Given the description of an element on the screen output the (x, y) to click on. 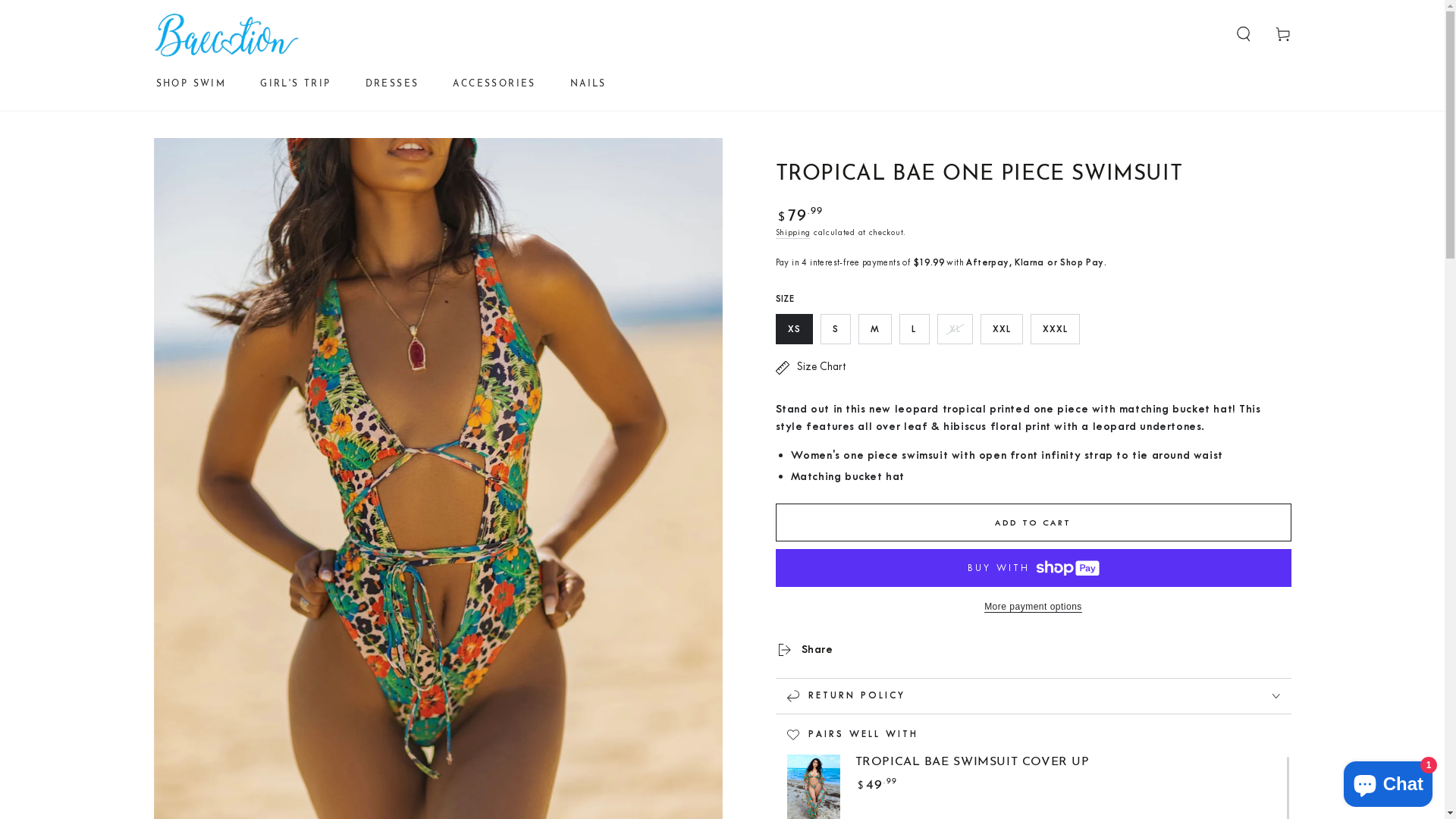
ACCESSORIES Element type: text (493, 83)
SKIP TO PRODUCT INFORMATION Element type: text (244, 156)
More payment options Element type: text (1032, 606)
GIRL'S TRIP Element type: text (295, 83)
ADD TO CART Element type: text (1032, 522)
DRESSES Element type: text (392, 83)
Shopify online store chat Element type: hover (1388, 780)
SHOP SWIM Element type: text (190, 83)
NAILS Element type: text (588, 83)
Shipping Element type: text (792, 232)
Size Chart Element type: text (810, 367)
TROPICAL BAE SWIMSUIT COVER UP Element type: text (972, 762)
